Given the description of an element on the screen output the (x, y) to click on. 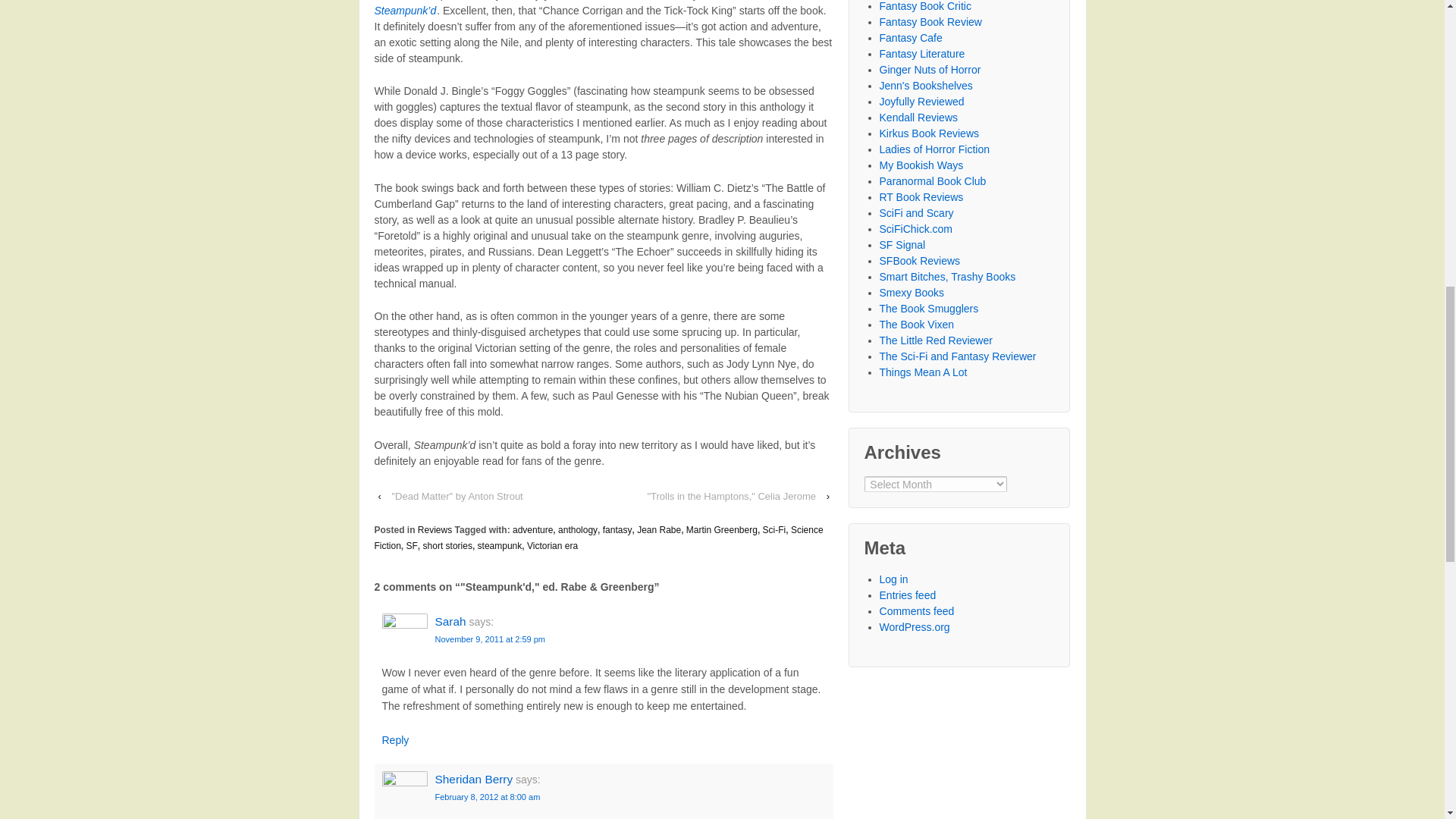
Reply (395, 739)
"Dead Matter" by Anton Strout (456, 496)
SF (411, 545)
Martin Greenberg (721, 529)
February 8, 2012 at 8:00 am (487, 796)
steampunk (499, 545)
short stories (447, 545)
anthology (576, 529)
Sarah (450, 621)
Jean Rabe (659, 529)
Reviews (434, 529)
Victorian era (552, 545)
Sci-Fi (774, 529)
November 9, 2011 at 2:59 pm (490, 638)
Science Fiction (599, 537)
